Given the description of an element on the screen output the (x, y) to click on. 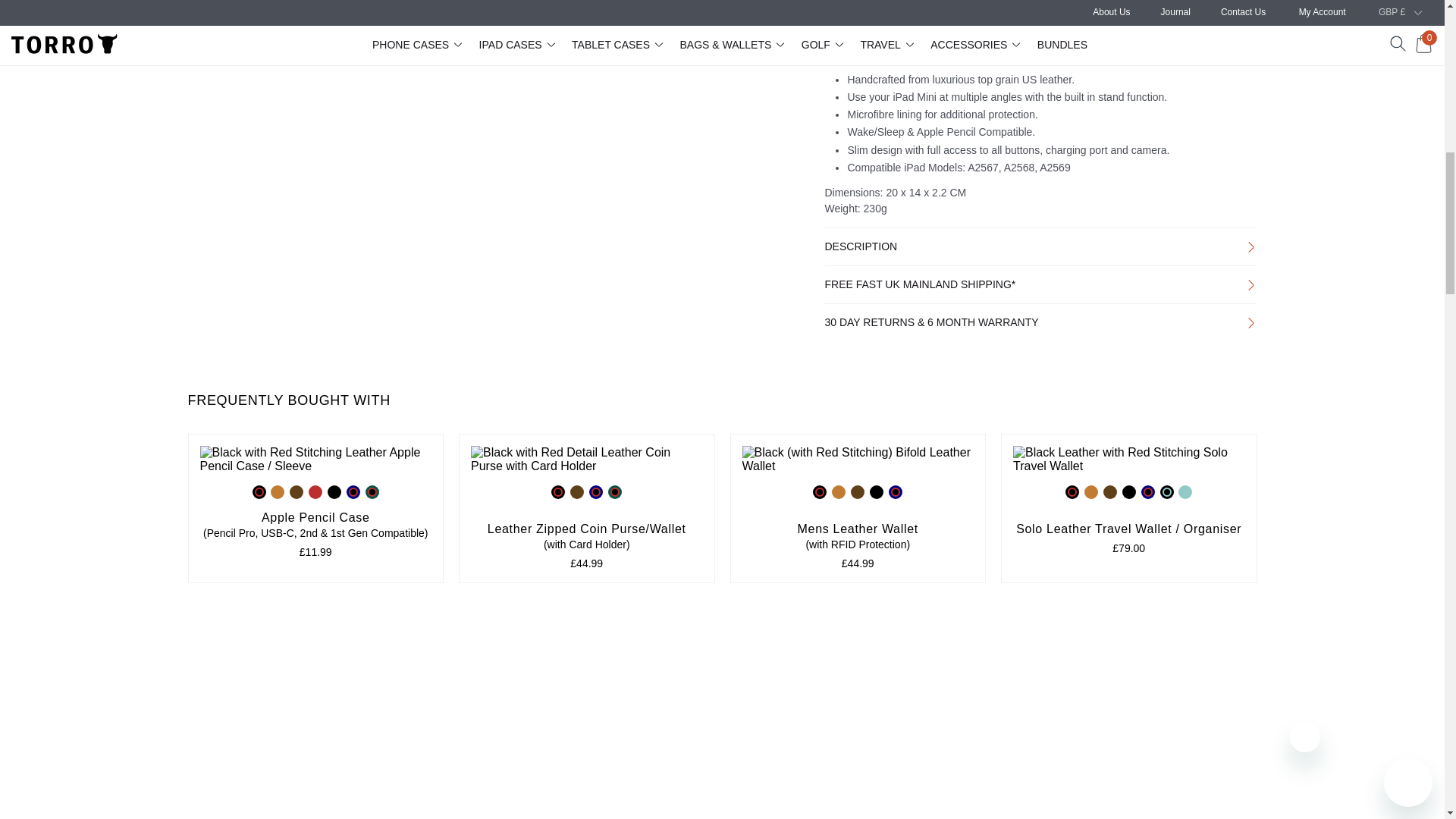
Green with Red Detail (371, 491)
Dark Brown (576, 491)
Black with Red Detail (258, 491)
Black with Red Detail (819, 491)
Dark Brown (295, 491)
Tan (276, 491)
Black (333, 491)
Black with Red Detail (557, 491)
Tan (838, 491)
Navy Blue (595, 491)
